Given the description of an element on the screen output the (x, y) to click on. 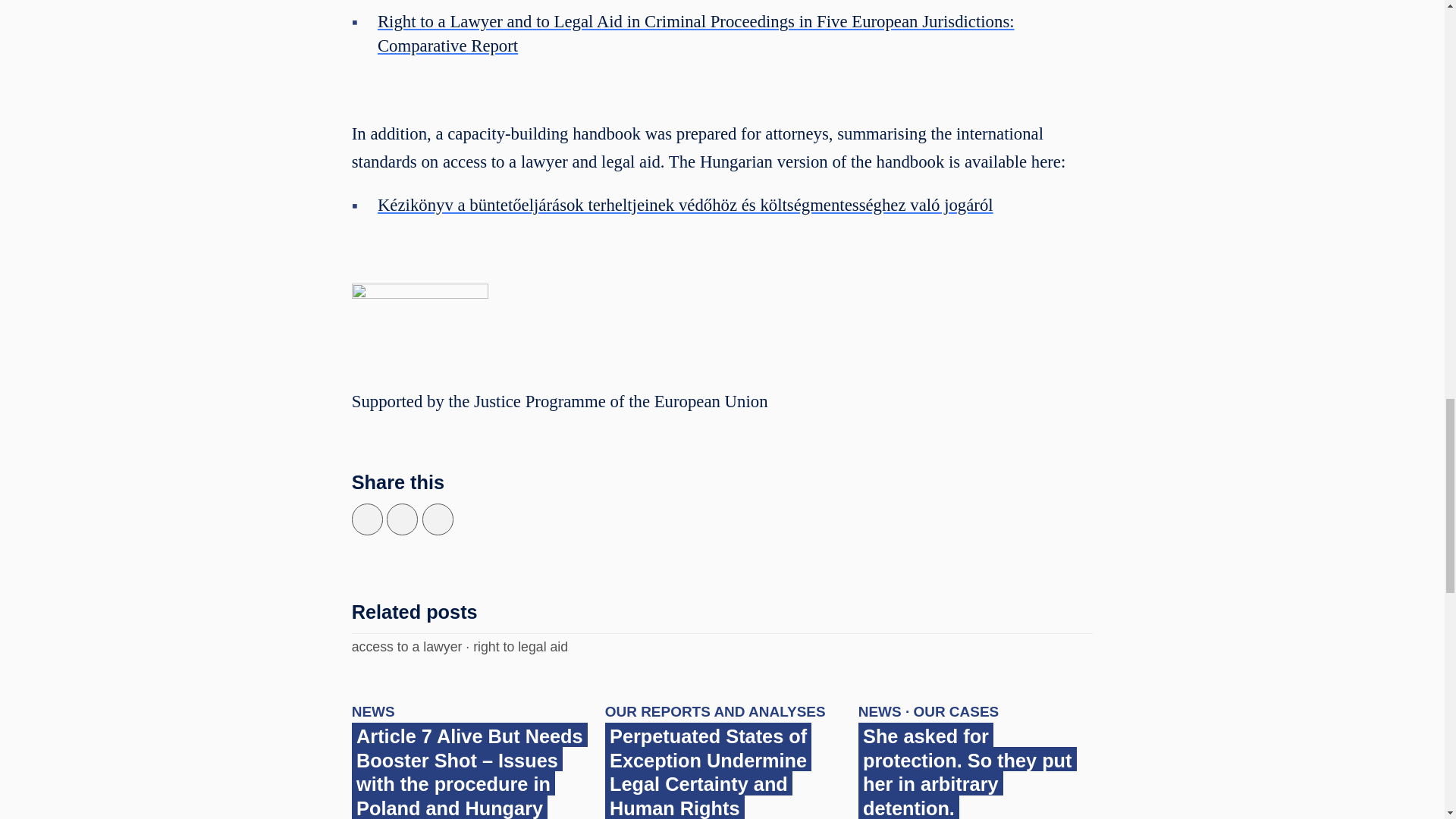
right to legal aid (520, 646)
NEWS (373, 711)
OUR REPORTS AND ANALYSES (715, 711)
access to a lawyer (407, 646)
